Given the description of an element on the screen output the (x, y) to click on. 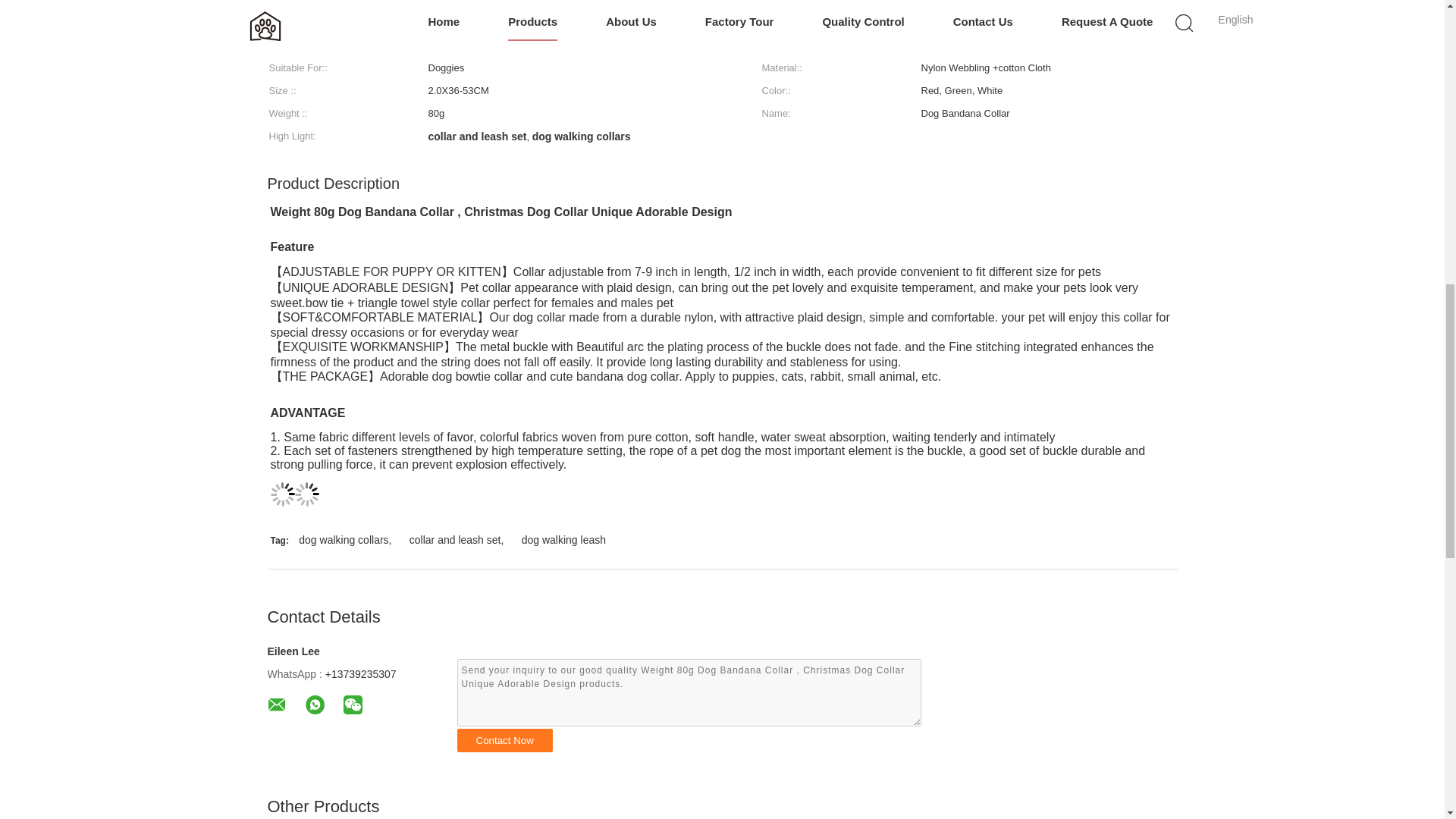
Contact Now (504, 740)
